Given the description of an element on the screen output the (x, y) to click on. 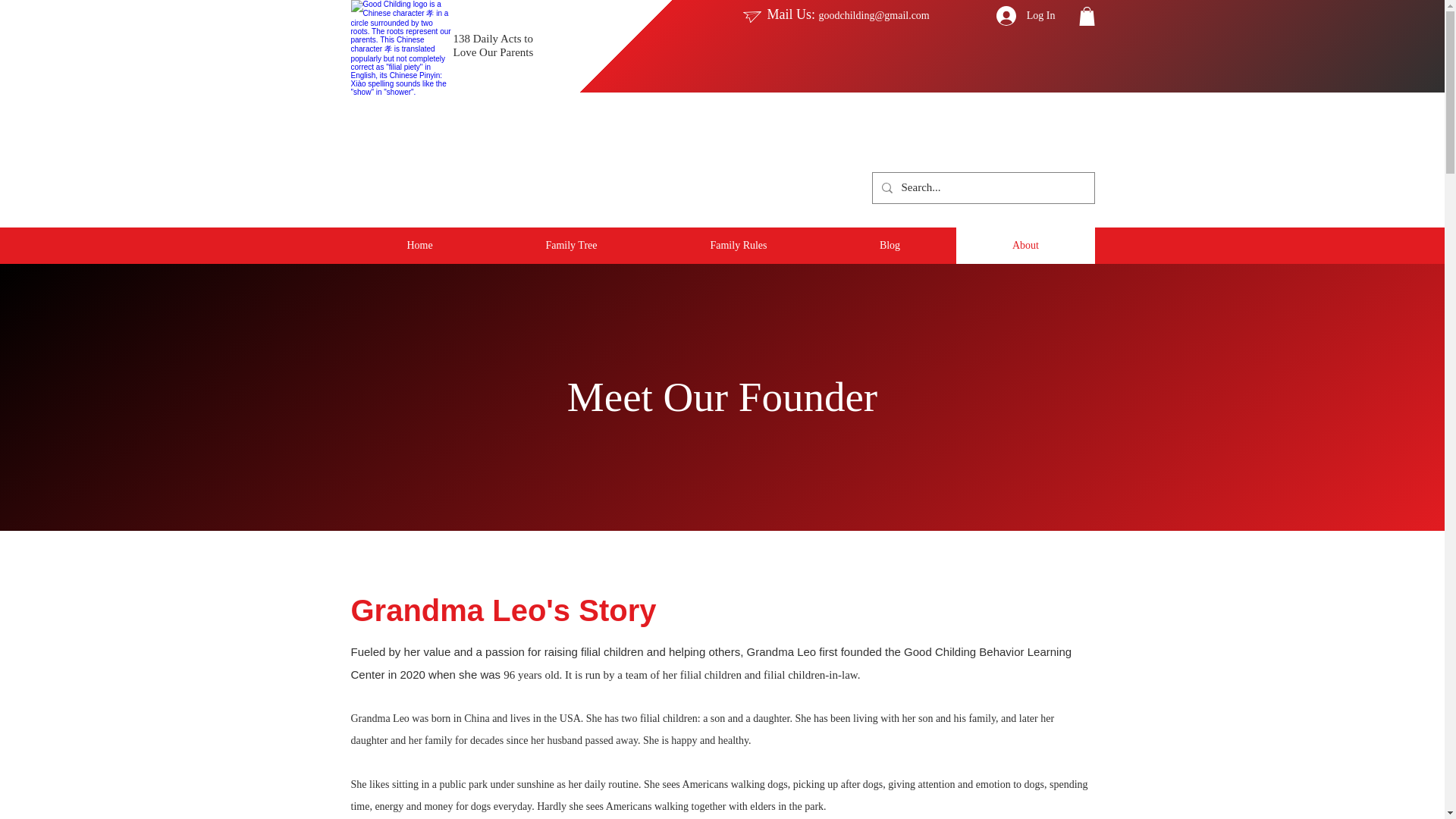
Family Tree (569, 245)
Blog (890, 245)
138 Daily Acts to Love Our Parents (493, 44)
Family Rules (738, 245)
About (1024, 245)
Home (418, 245)
Log In (1025, 15)
